Given the description of an element on the screen output the (x, y) to click on. 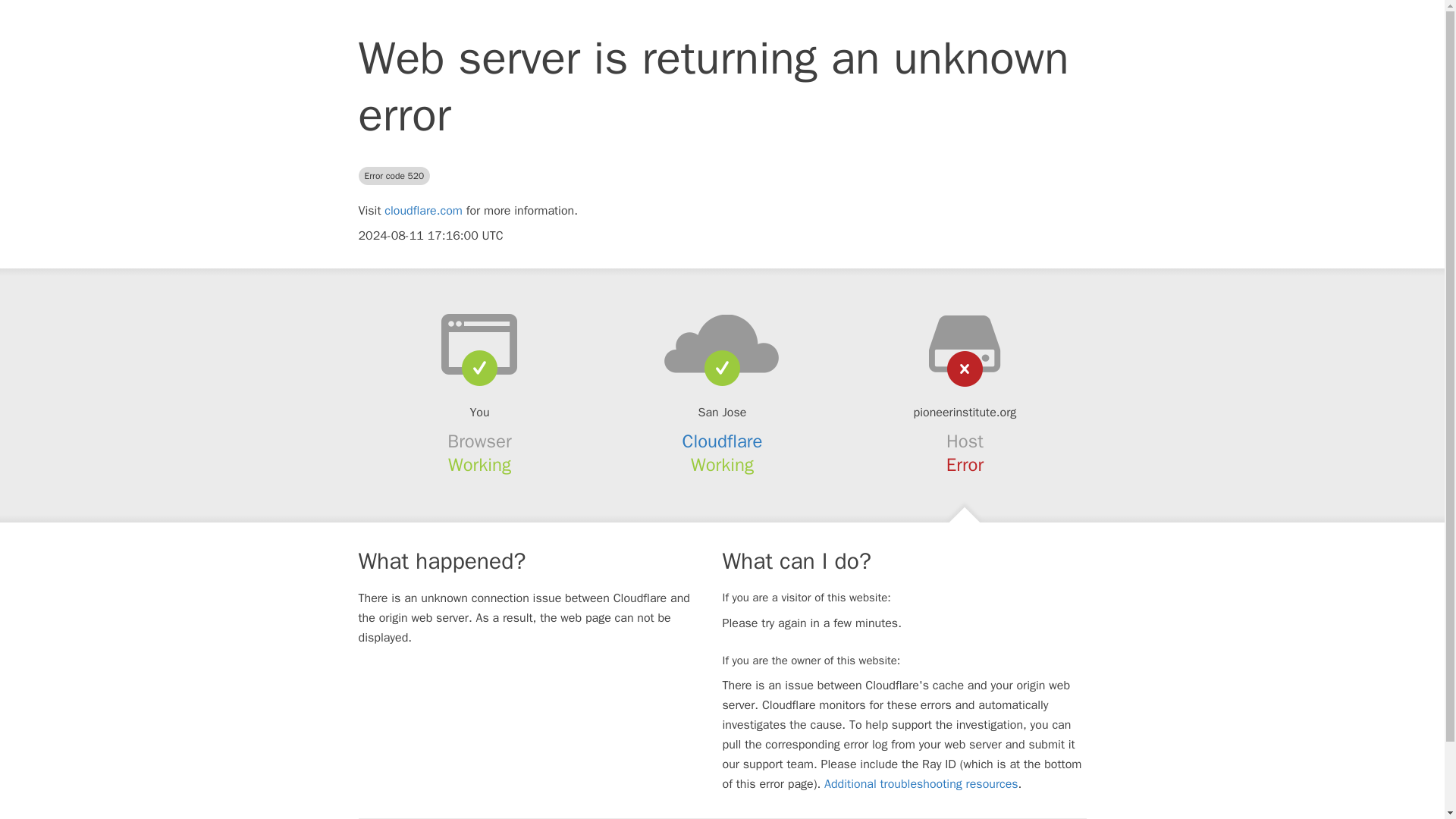
cloudflare.com (423, 210)
Cloudflare (722, 440)
Additional troubleshooting resources (920, 783)
